Given the description of an element on the screen output the (x, y) to click on. 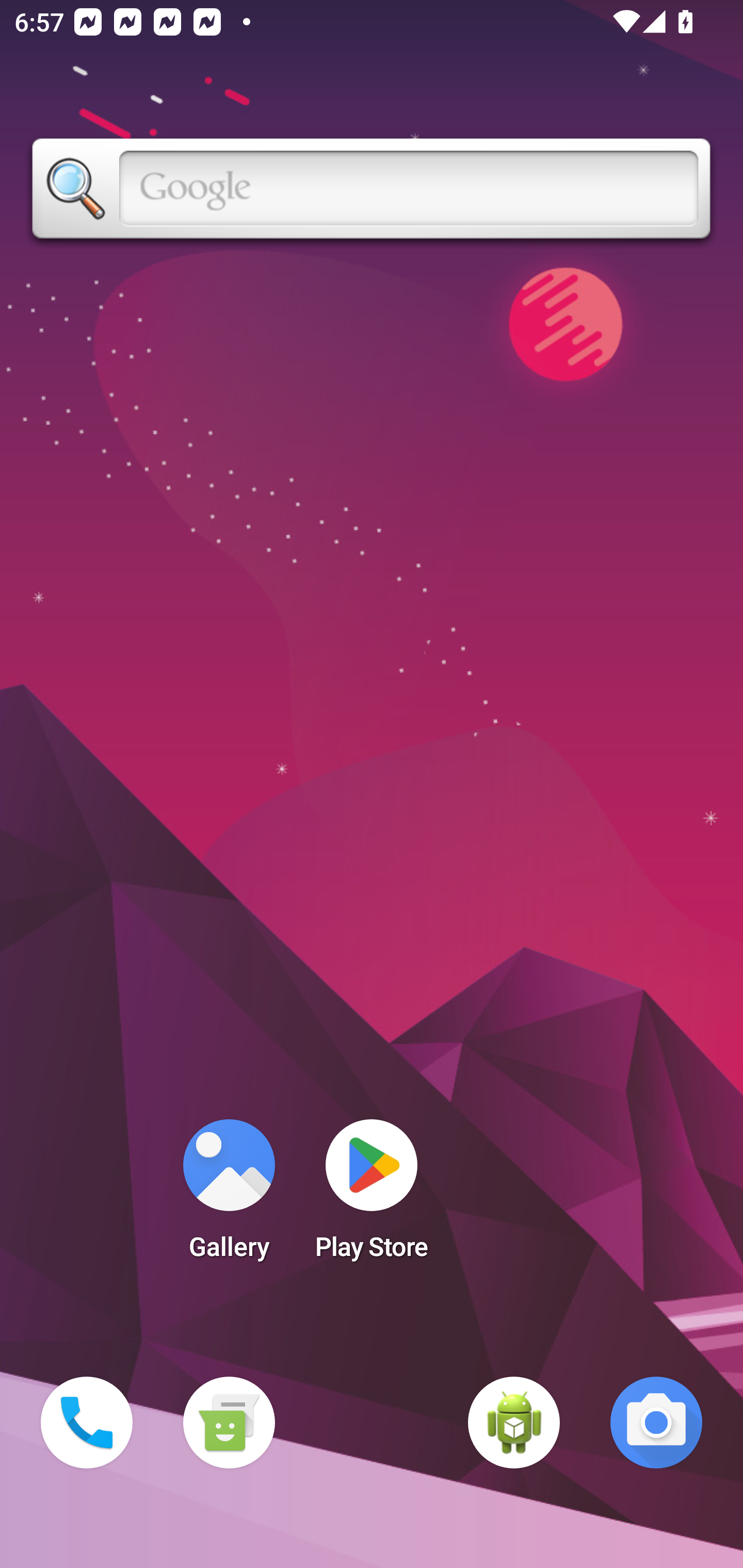
Gallery (228, 1195)
Play Store (371, 1195)
Phone (86, 1422)
Messaging (228, 1422)
WebView Browser Tester (513, 1422)
Camera (656, 1422)
